Given the description of an element on the screen output the (x, y) to click on. 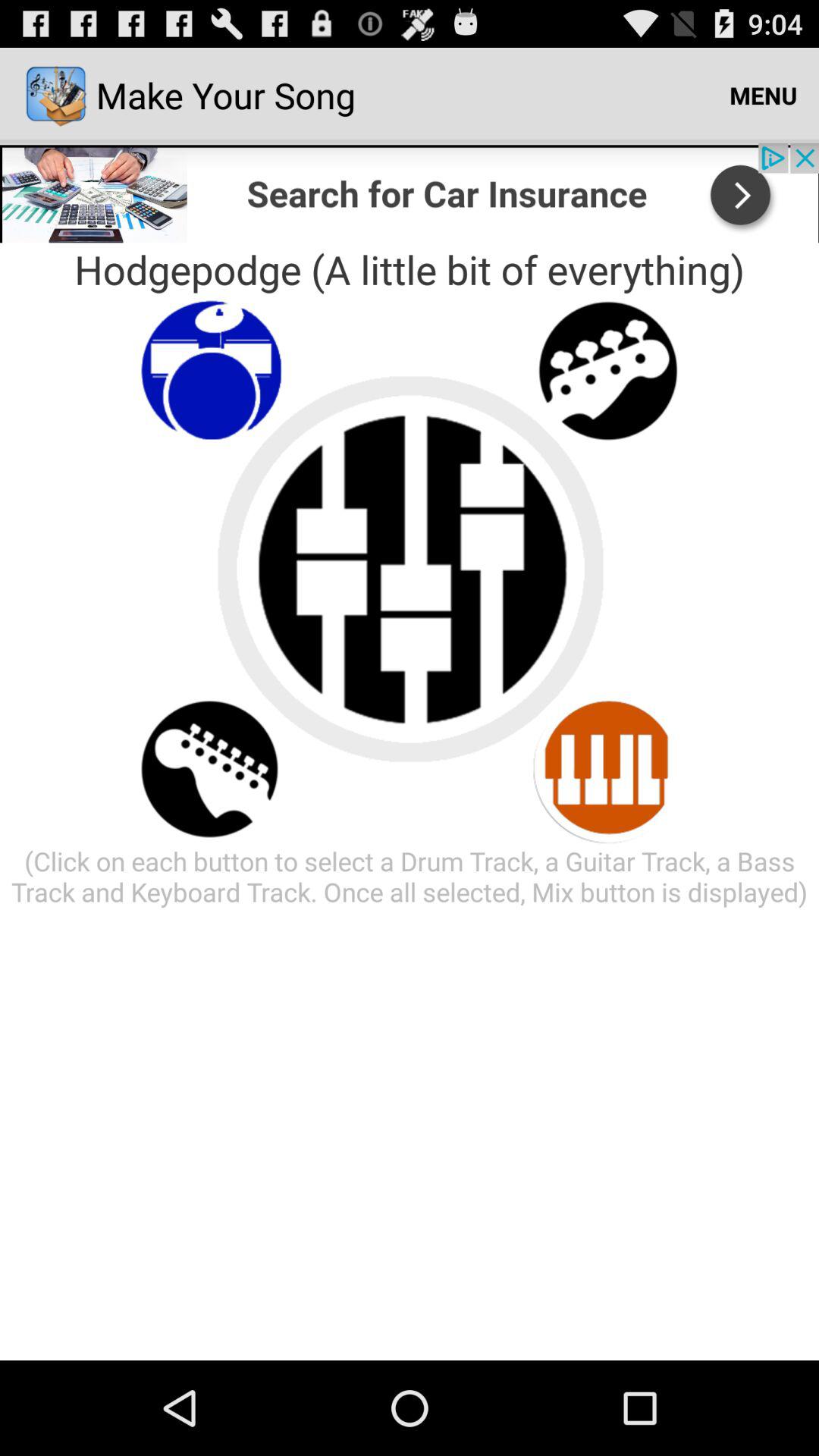
switch autoplay option (608, 768)
